Given the description of an element on the screen output the (x, y) to click on. 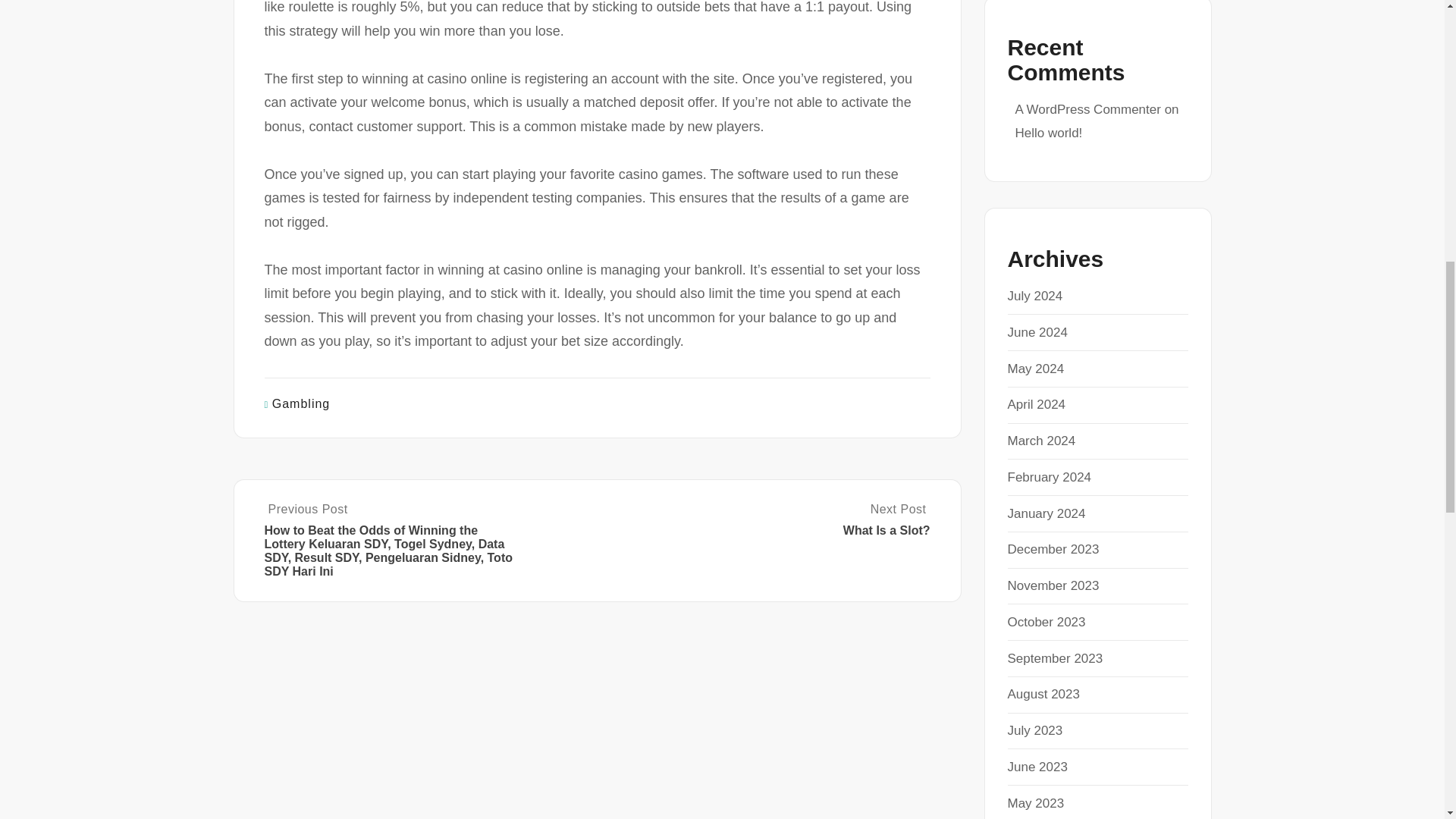
December 2023 (1053, 549)
May 2023 (1035, 803)
November 2023 (1053, 585)
A WordPress Commenter (1087, 109)
Gambling (301, 403)
Hello world! (1047, 133)
July 2024 (1034, 296)
September 2023 (1054, 658)
March 2024 (1041, 440)
June 2024 (764, 519)
October 2023 (1037, 332)
January 2024 (1045, 622)
August 2023 (1045, 513)
